Given the description of an element on the screen output the (x, y) to click on. 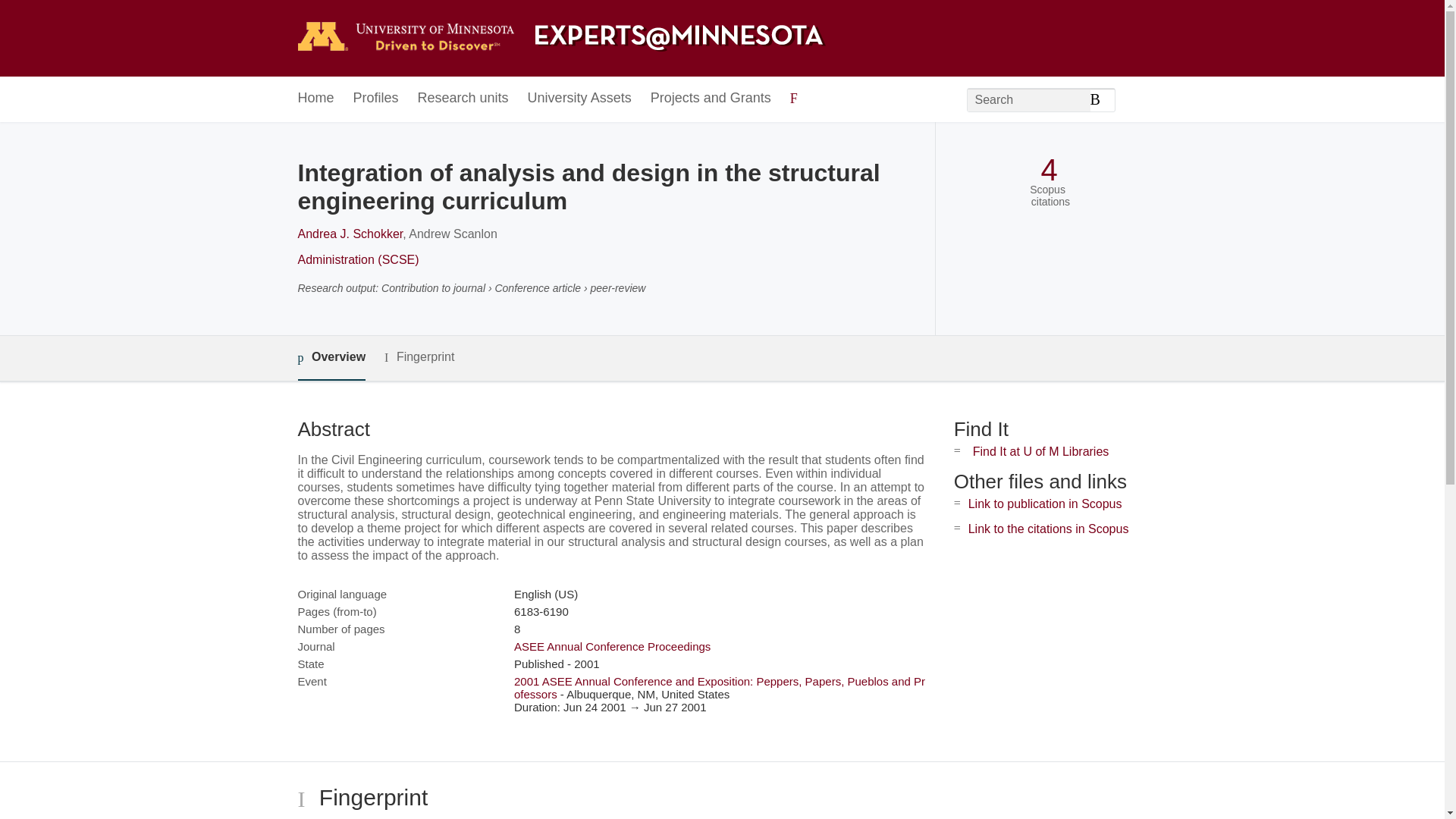
Find It at U of M Libraries (1040, 451)
Link to the citations in Scopus (1048, 528)
ASEE Annual Conference Proceedings (611, 645)
Overview (331, 357)
Projects and Grants (710, 98)
Profiles (375, 98)
Research units (462, 98)
Link to publication in Scopus (1045, 503)
Andrea J. Schokker (350, 233)
University Assets (579, 98)
Fingerprint (419, 357)
